Given the description of an element on the screen output the (x, y) to click on. 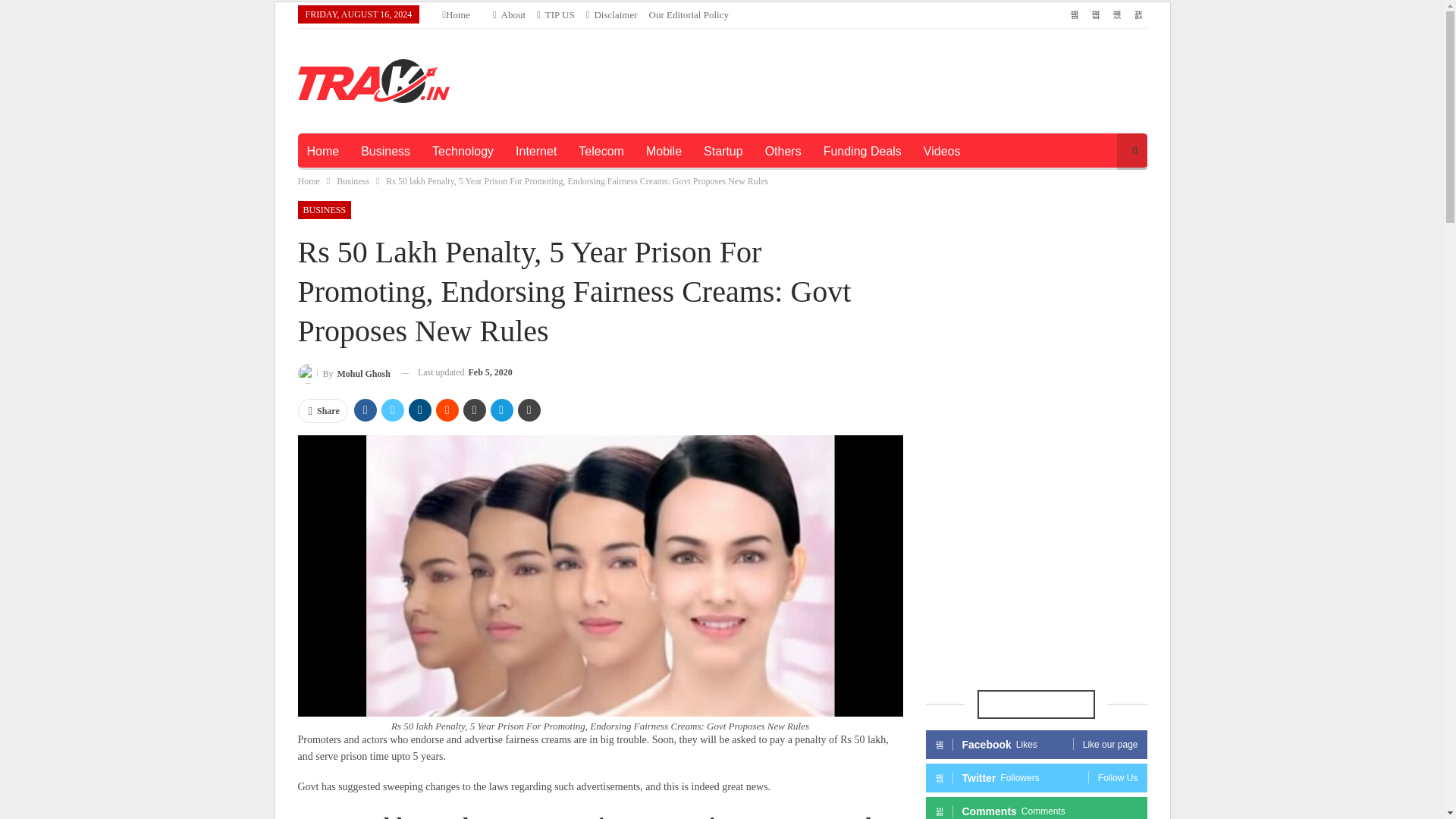
Others (782, 151)
Business (352, 180)
By Mohul Ghosh (343, 372)
Disclaimer (611, 14)
Technology (462, 151)
TIP US (556, 14)
Telecom (601, 151)
Home (455, 14)
About (509, 14)
Startup (723, 151)
